Given the description of an element on the screen output the (x, y) to click on. 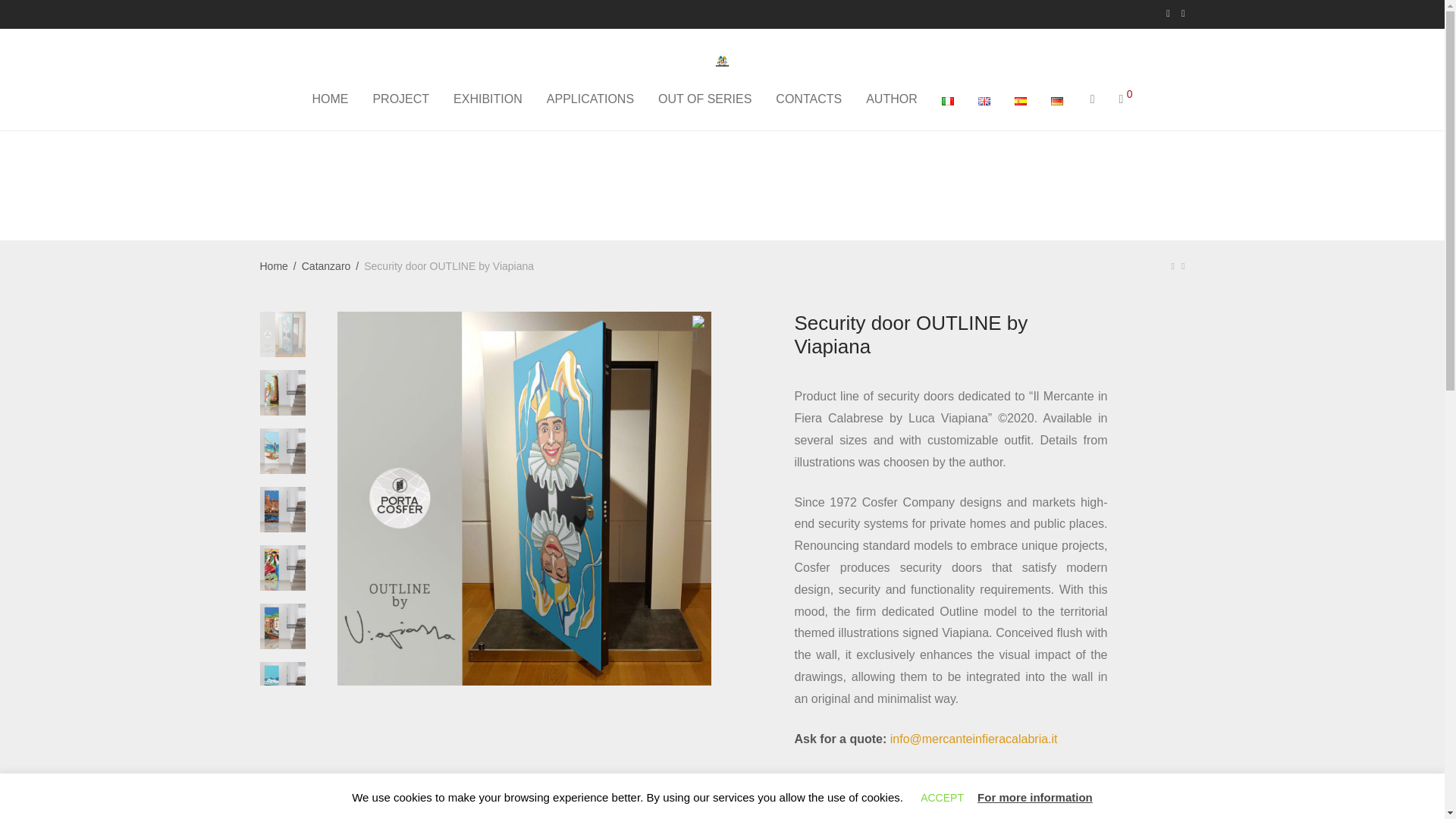
0 (1125, 99)
PROJECT (400, 99)
HOME (329, 99)
EXHIBITION (487, 99)
Catanzaro (325, 265)
CONTACTS (807, 99)
APPLICATIONS (590, 99)
AUTHOR (891, 99)
Home (272, 265)
OUT OF SERIES (704, 99)
